Given the description of an element on the screen output the (x, y) to click on. 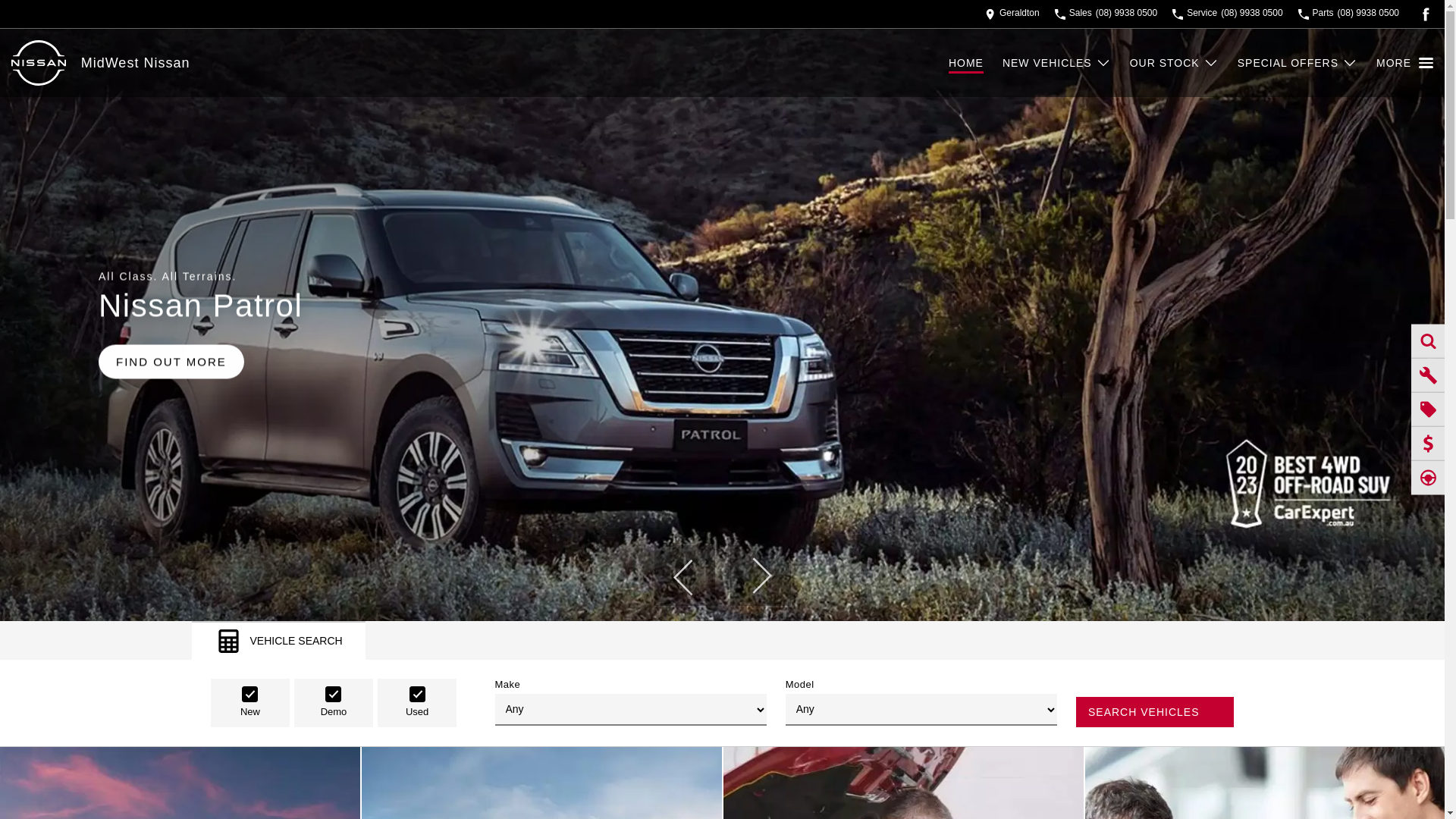
Parts
(08) 9938 0500 Element type: text (1348, 13)
NEW VEHICLES Element type: text (1056, 62)
Nissan X-Trail
FIND OUT MORE Element type: text (722, 324)
SPECIAL OFFERS Element type: text (1297, 62)
VEHICLE SEARCH Element type: text (277, 640)
Sales
(08) 9938 0500 Element type: text (1105, 13)
Service
(08) 9938 0500 Element type: text (1227, 13)
Next Element type: text (759, 575)
OUR STOCK Element type: text (1173, 62)
Geraldton Element type: text (1012, 13)
Previous Element type: text (683, 575)
MORE Element type: text (1404, 62)
SEARCH VEHICLES Element type: text (1154, 711)
HOME Element type: text (975, 62)
MidWest Nissan Element type: text (135, 62)
